Given the description of an element on the screen output the (x, y) to click on. 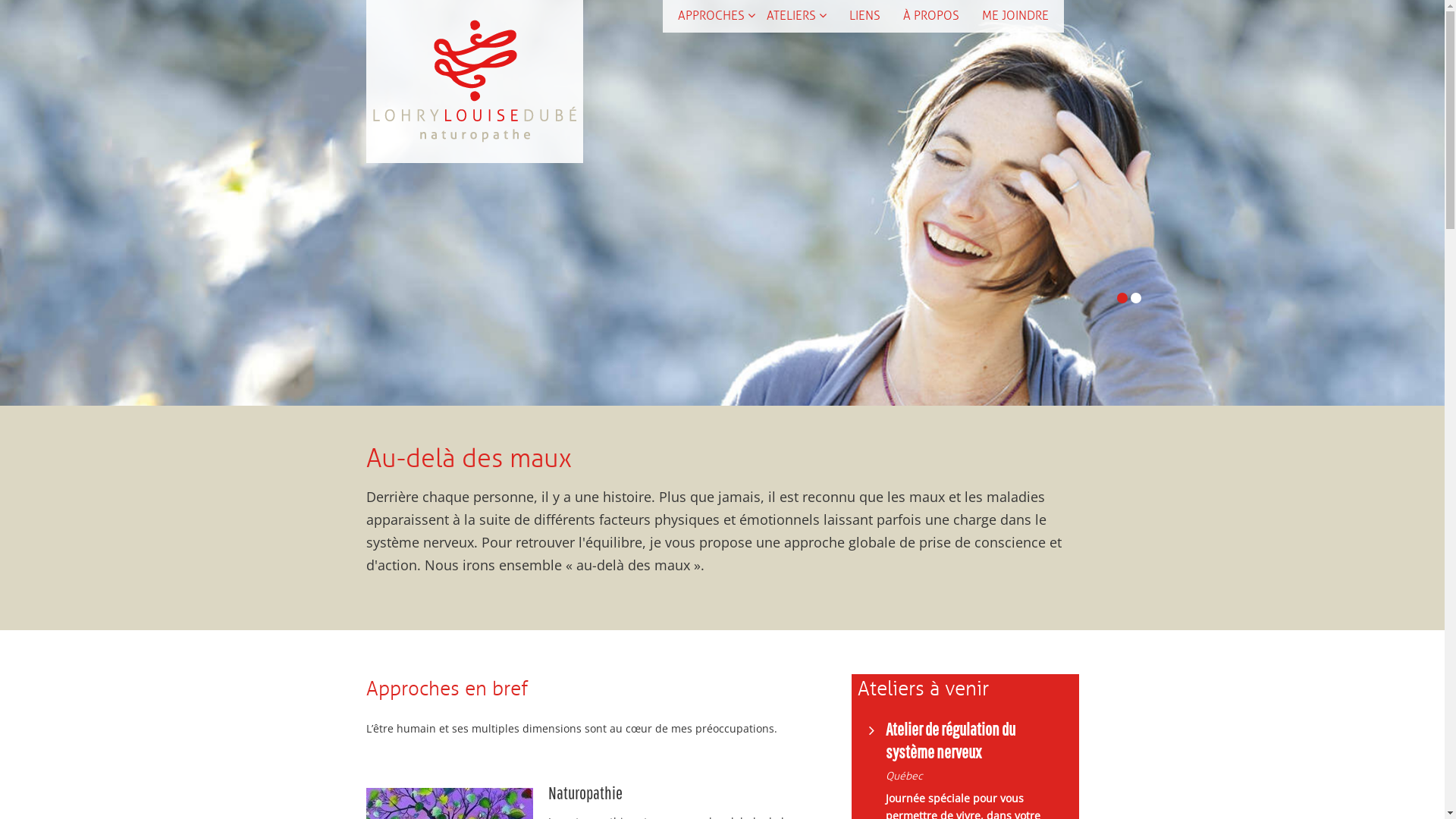
ATELIERS Element type: text (795, 15)
ME JOINDRE Element type: text (1014, 15)
Naturopathie Element type: text (584, 792)
APPROCHES Element type: text (716, 15)
LIENS Element type: text (864, 15)
